Given the description of an element on the screen output the (x, y) to click on. 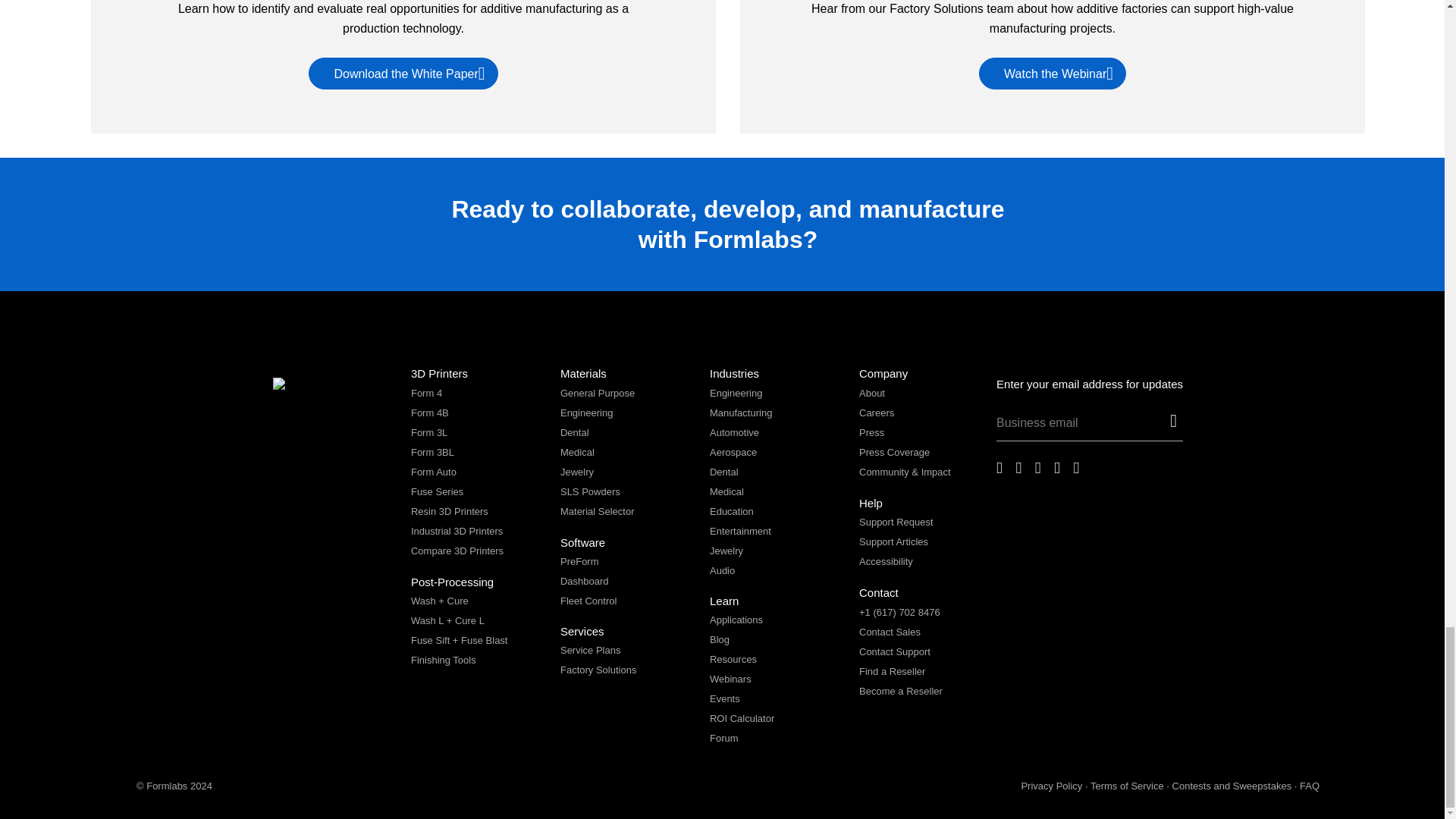
Email (1079, 426)
